Given the description of an element on the screen output the (x, y) to click on. 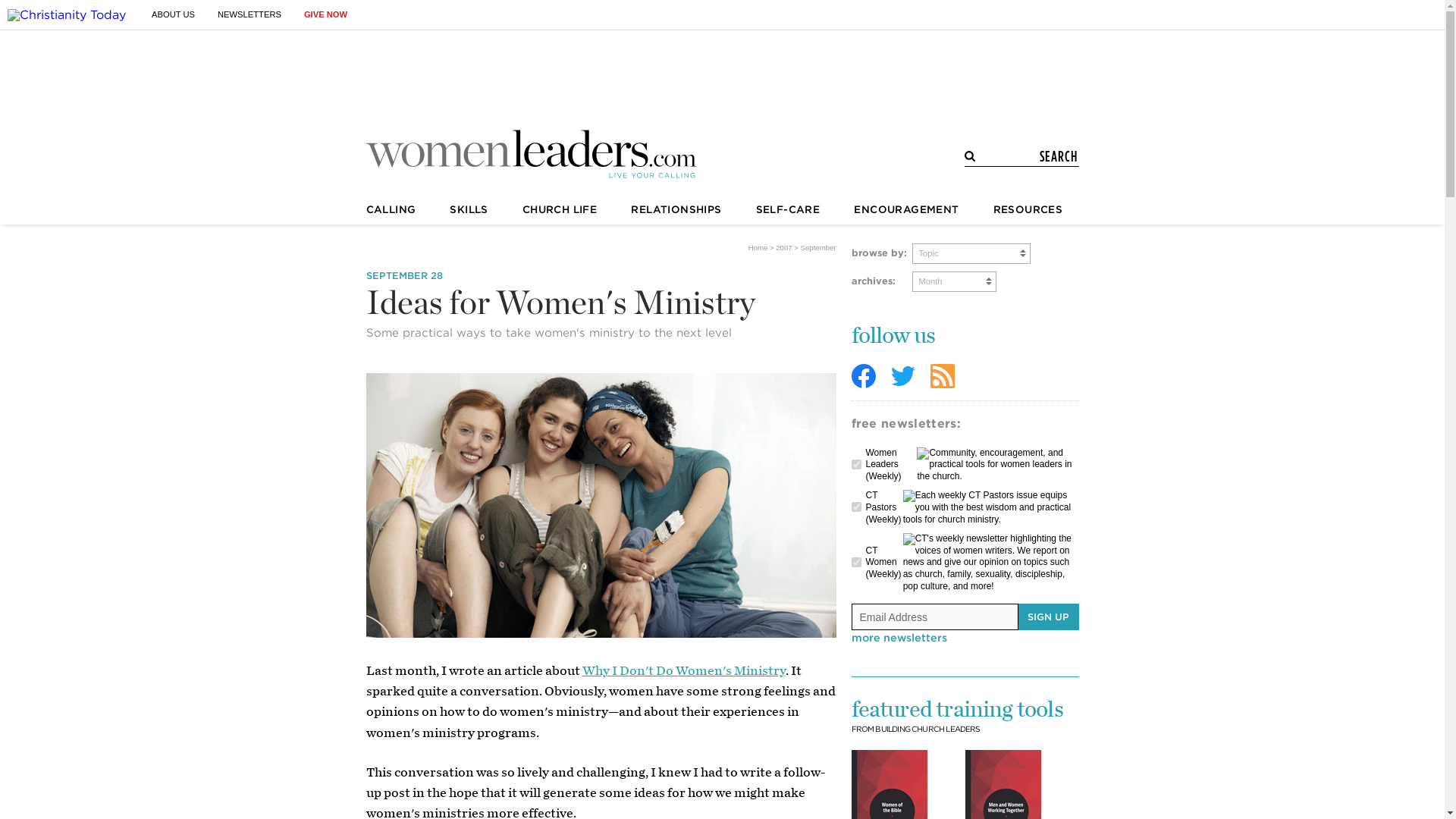
ENCOURAGEMENT (905, 209)
ABOUT US (173, 14)
RSS (941, 375)
SEARCH (1026, 156)
Twitter (901, 375)
SELF-CARE (788, 209)
September (817, 247)
SEARCH (1026, 156)
GIVE NOW (326, 14)
Sign Up (1047, 616)
63 (855, 464)
Ideas for Women's Ministry (600, 505)
RELATIONSHIPS (675, 209)
Home (758, 247)
57 (855, 562)
